Given the description of an element on the screen output the (x, y) to click on. 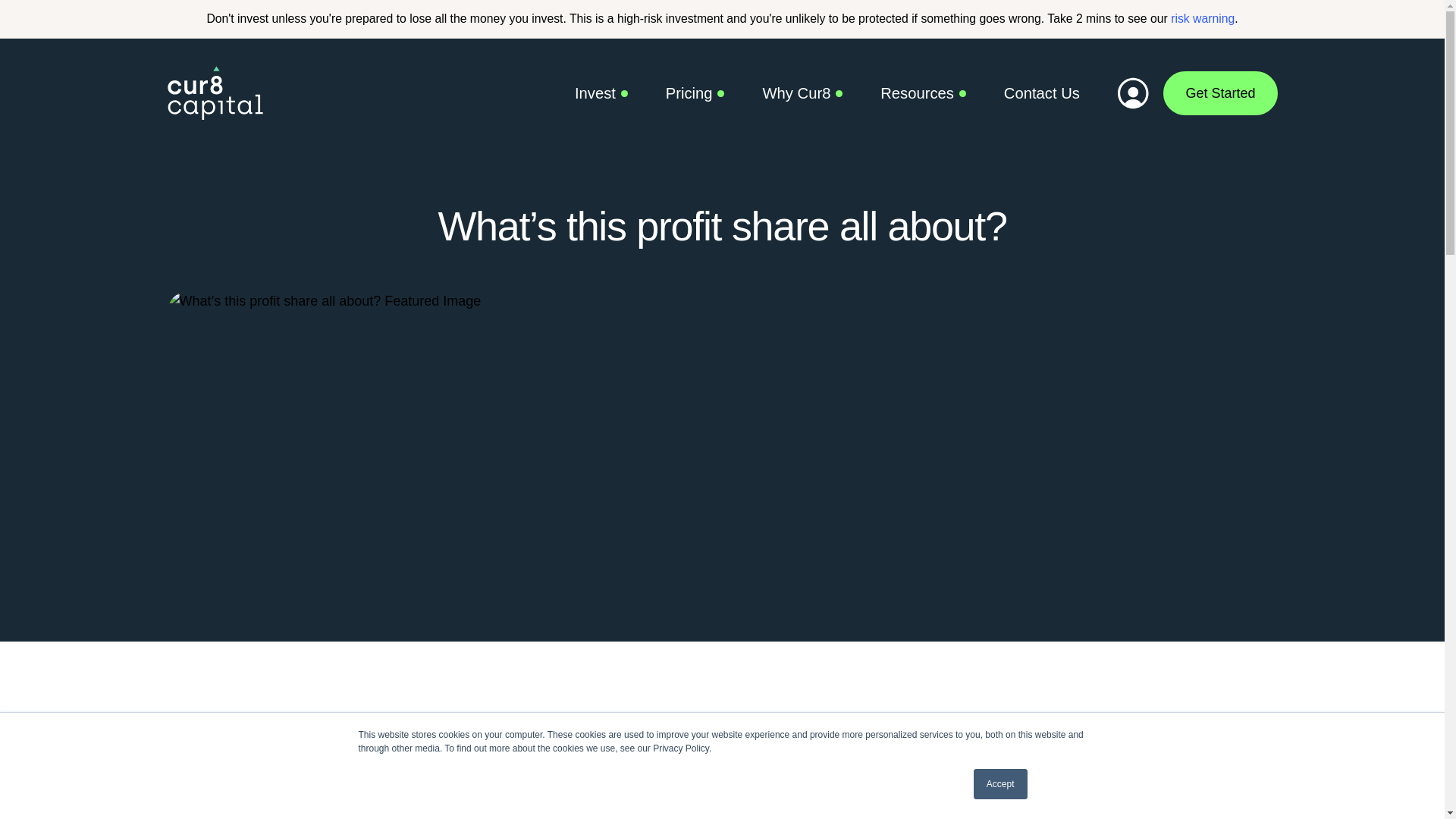
Resources (923, 93)
Pricing (695, 93)
Accept (1000, 784)
risk warning (1202, 18)
Invest (601, 93)
Why Cur8 (802, 93)
